Given the description of an element on the screen output the (x, y) to click on. 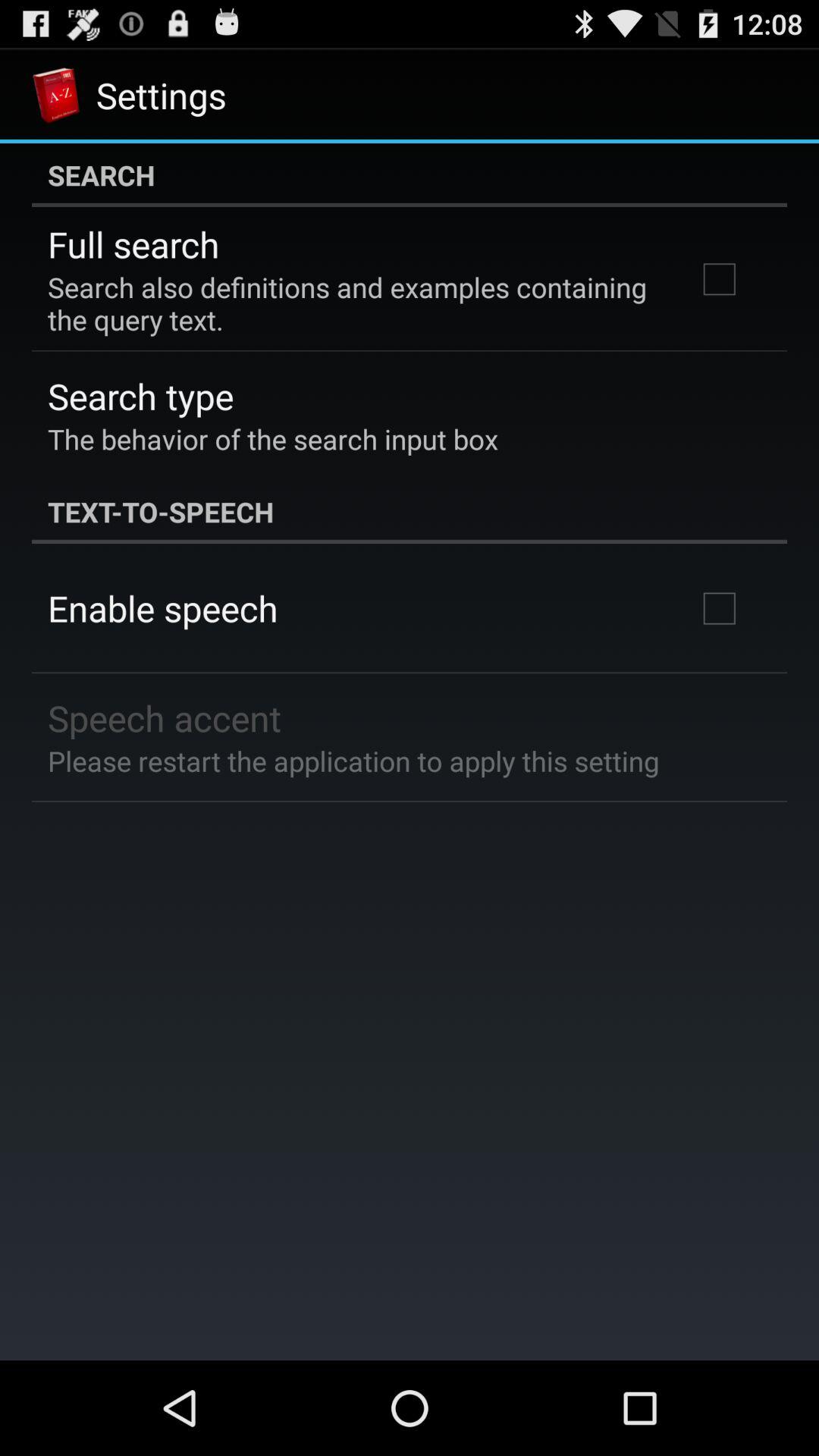
open text-to-speech icon (409, 511)
